Given the description of an element on the screen output the (x, y) to click on. 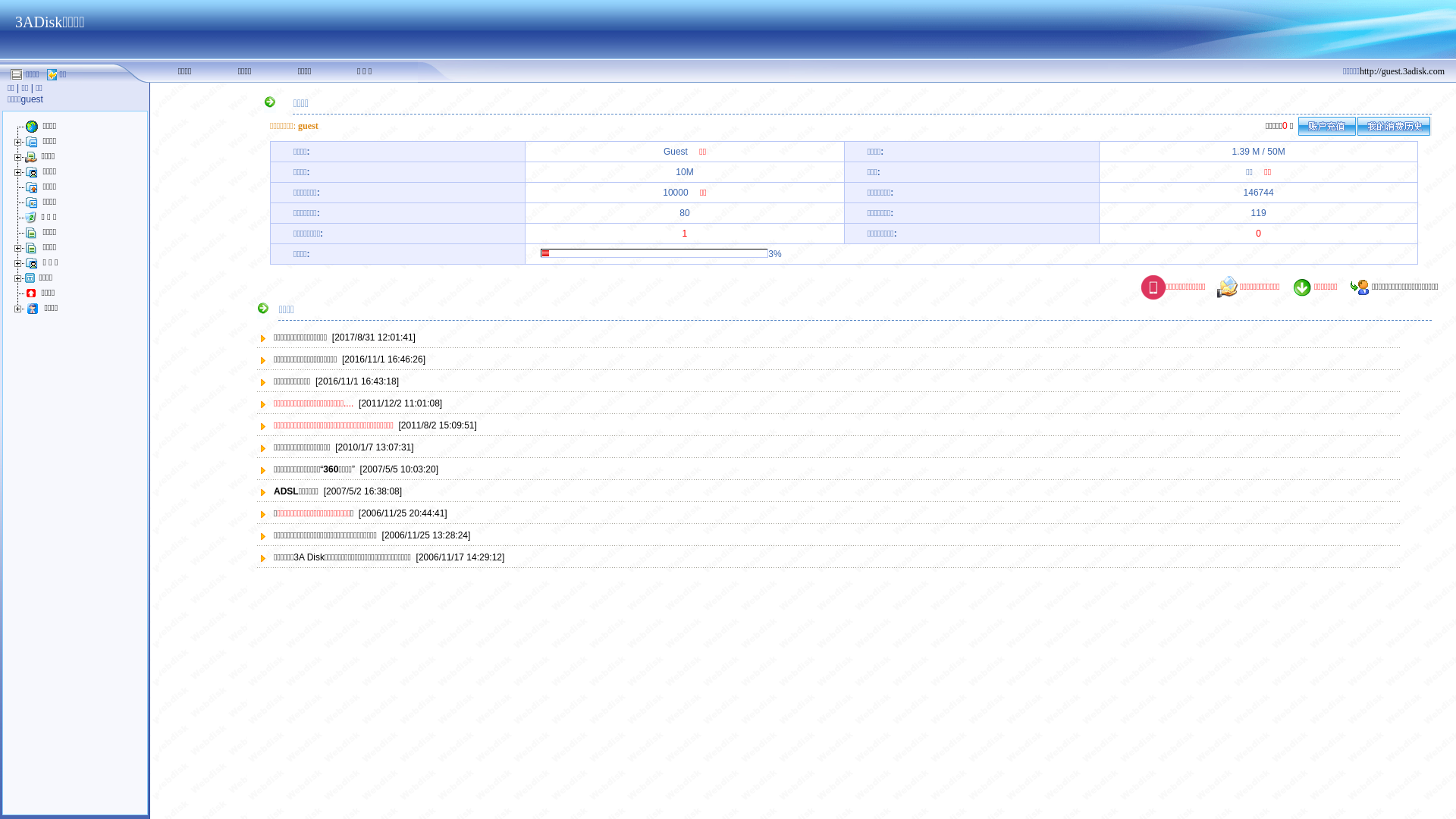
http://guest.3adisk.com Element type: text (1401, 70)
